Given the description of an element on the screen output the (x, y) to click on. 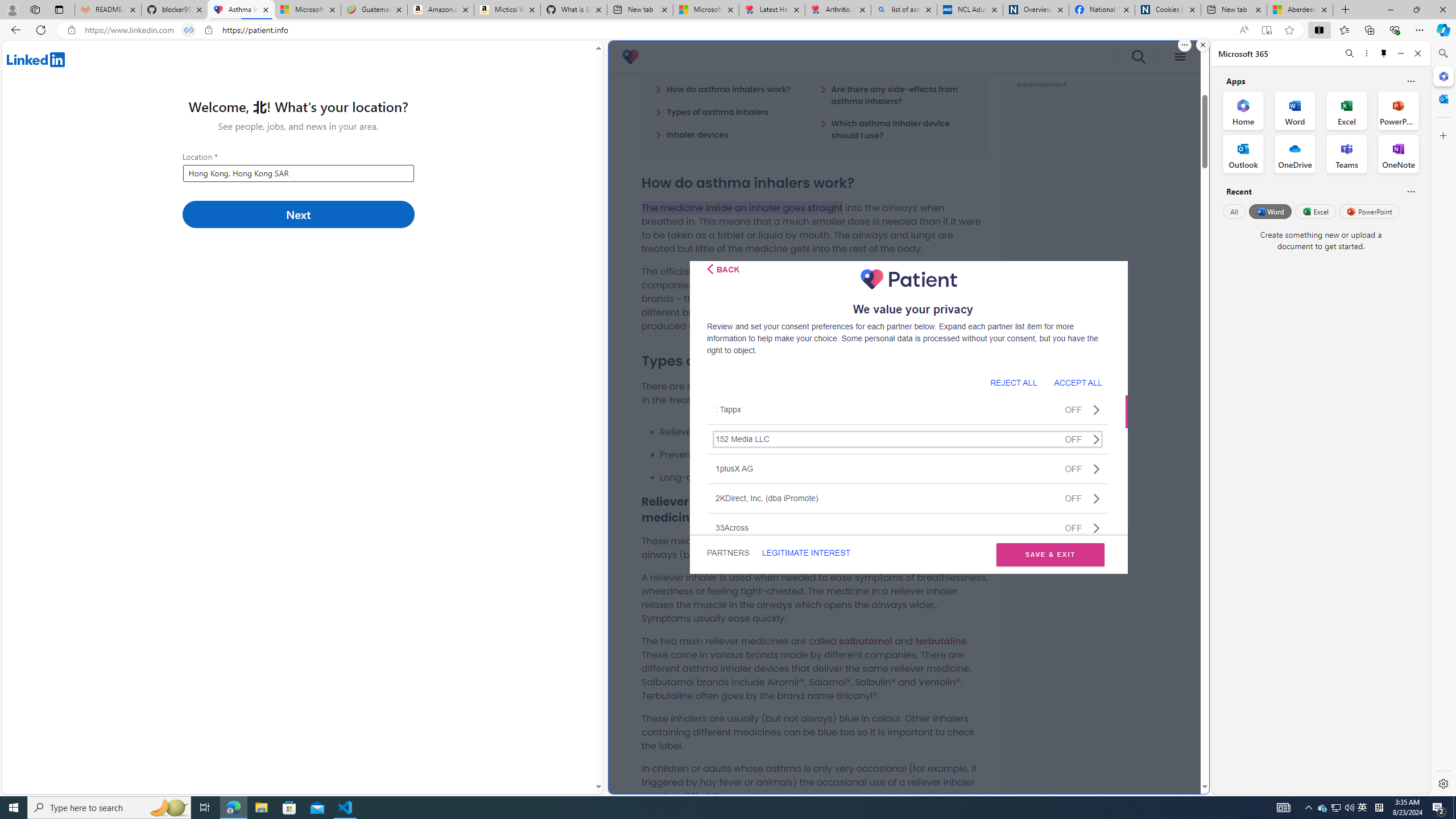
Are there any side-effects from asthma inhalers? (897, 94)
Tab actions menu (58, 9)
Microsoft 365 (1442, 76)
REJECT ALL (1013, 382)
Excel Office App (1346, 110)
Asthma Inhalers: Names and Types (240, 9)
Settings (1442, 783)
Browser essentials (1394, 29)
Long-acting bronchodilators. (823, 477)
SAVE & EXIT (1050, 554)
Publisher Logo (908, 278)
Copilot (Ctrl+Shift+.) (1442, 29)
Personal Profile (12, 9)
